Given the description of an element on the screen output the (x, y) to click on. 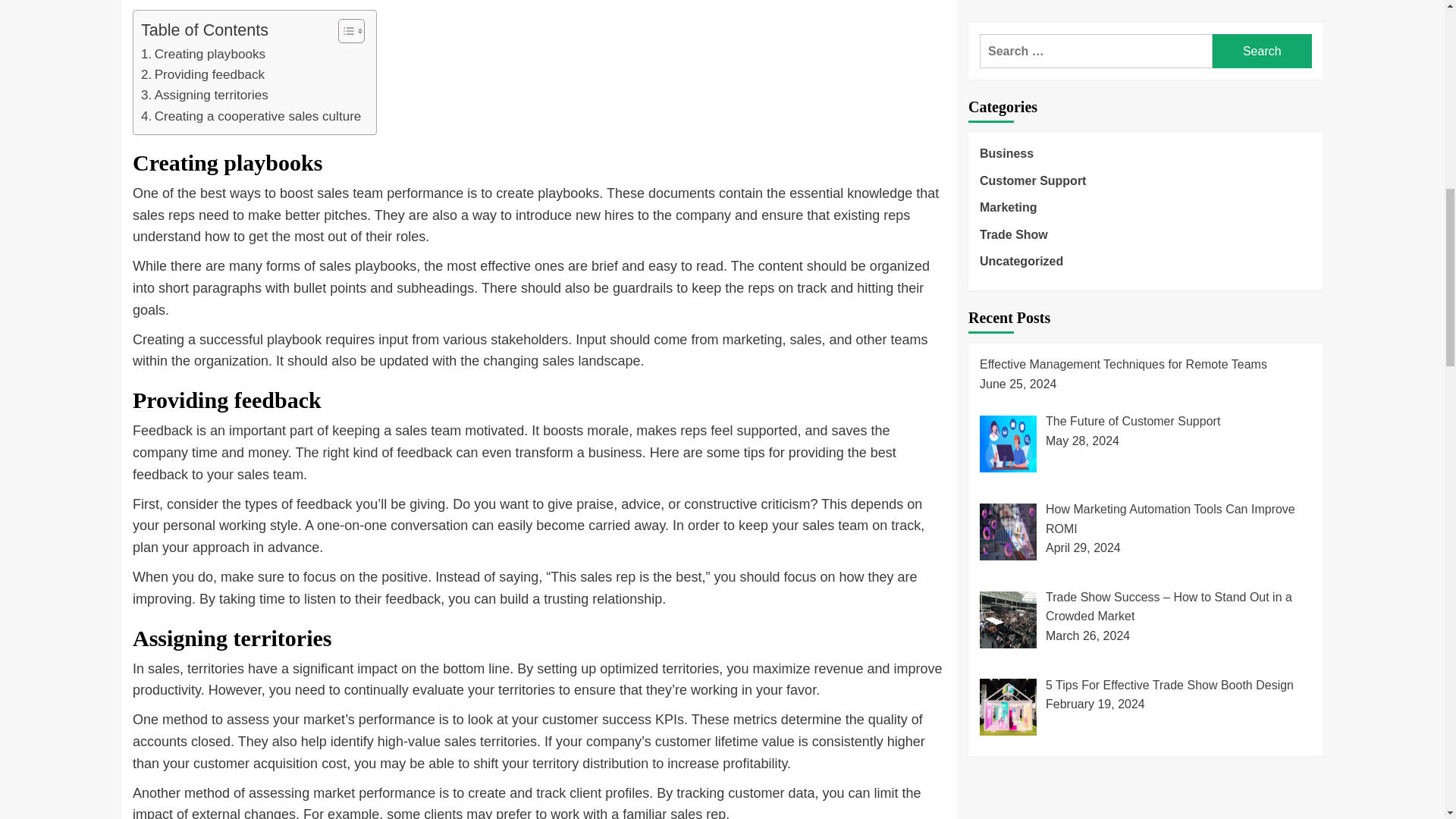
Creating a cooperative sales culture (251, 116)
Creating playbooks (202, 54)
Assigning territories (204, 95)
Creating playbooks (202, 54)
Assigning territories (204, 95)
Providing feedback (202, 74)
Providing feedback (202, 74)
Creating a cooperative sales culture (251, 116)
